Given the description of an element on the screen output the (x, y) to click on. 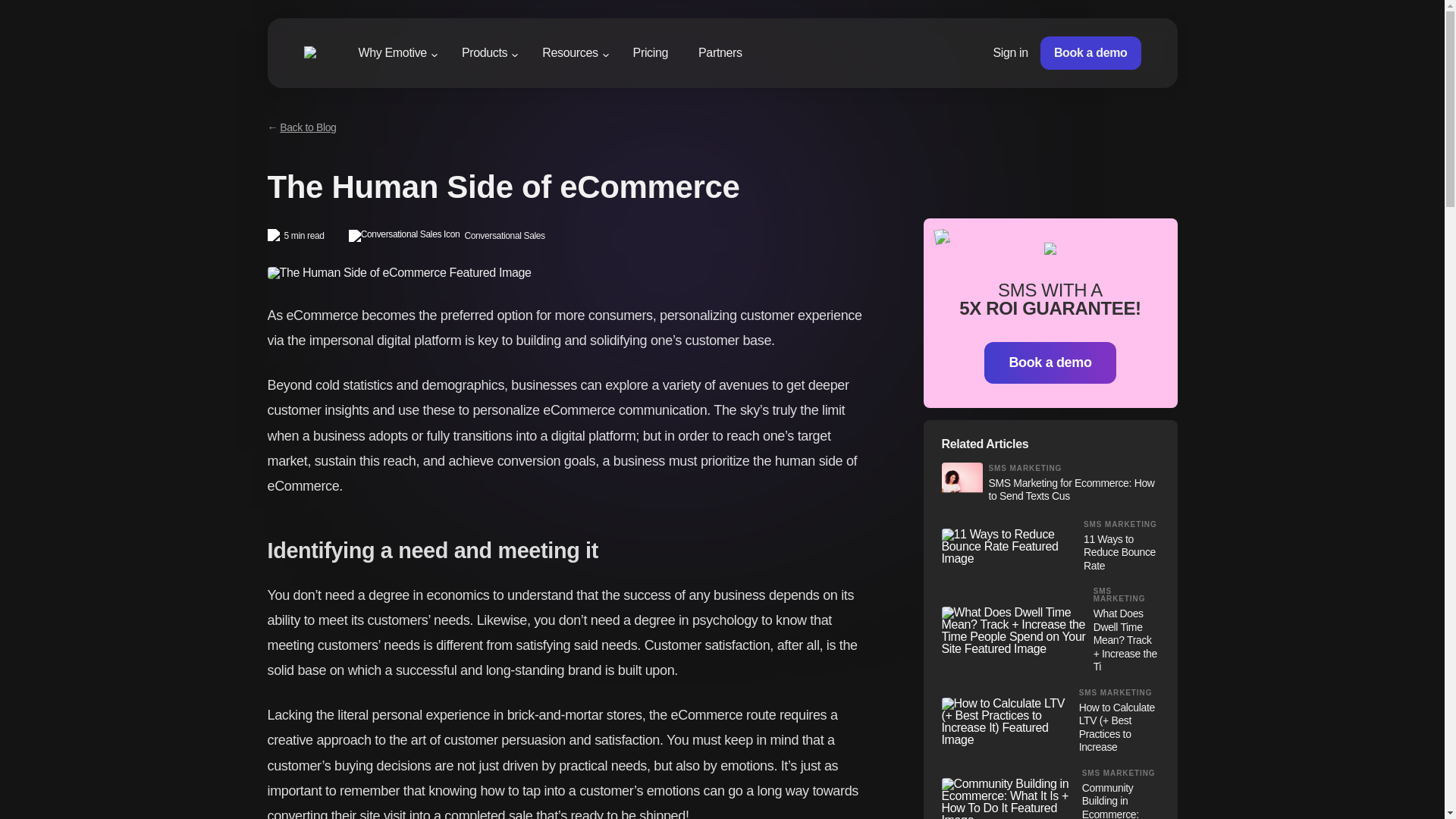
Pricing (650, 52)
Sign in (1009, 51)
Resources (569, 55)
Products (484, 55)
Partners (720, 52)
Book a demo (1091, 52)
Why Emotive (392, 55)
